Given the description of an element on the screen output the (x, y) to click on. 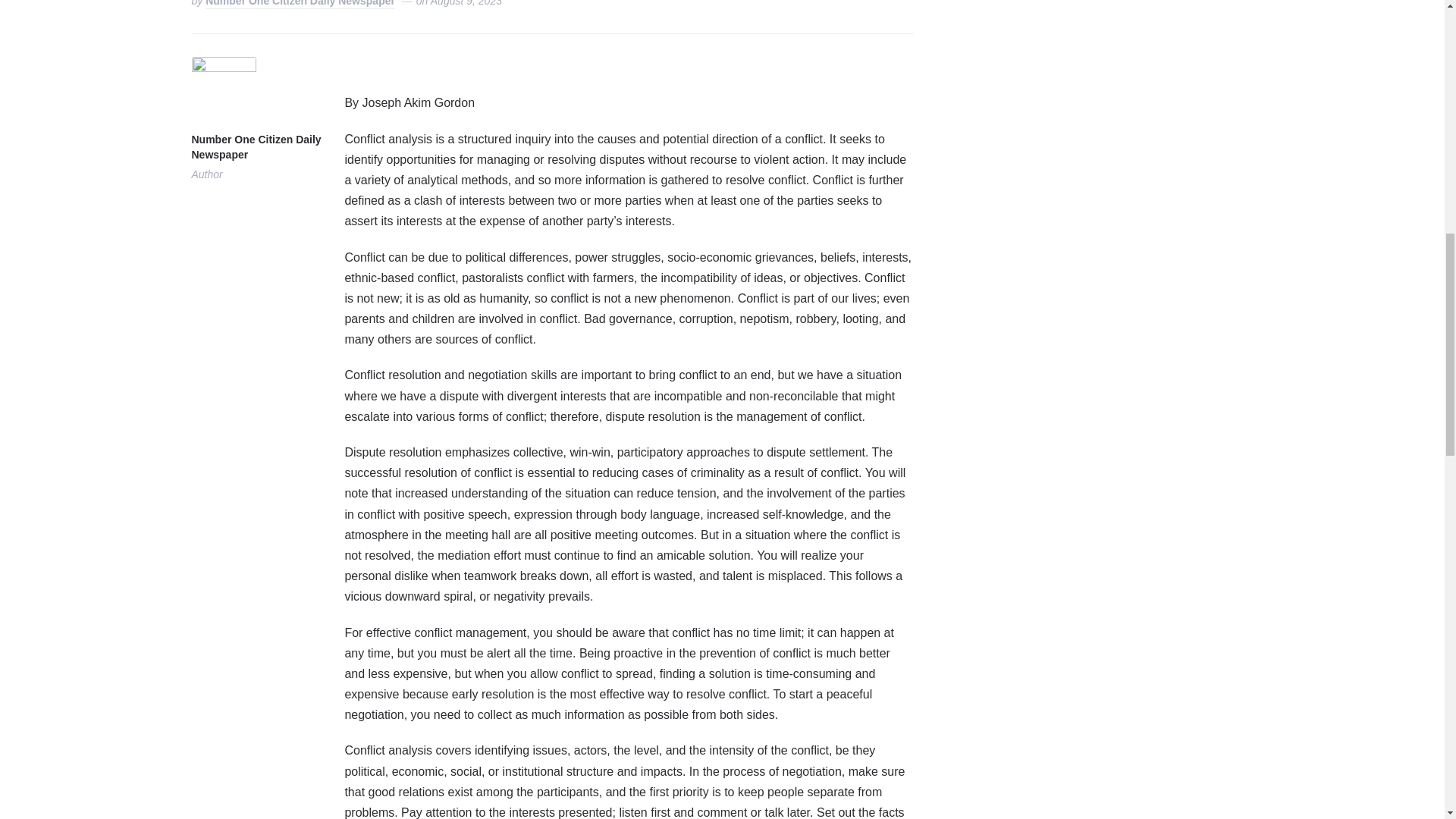
Posts by Number One Citizen Daily Newspaper (255, 147)
Posts by Number One Citizen Daily Newspaper (299, 4)
